Given the description of an element on the screen output the (x, y) to click on. 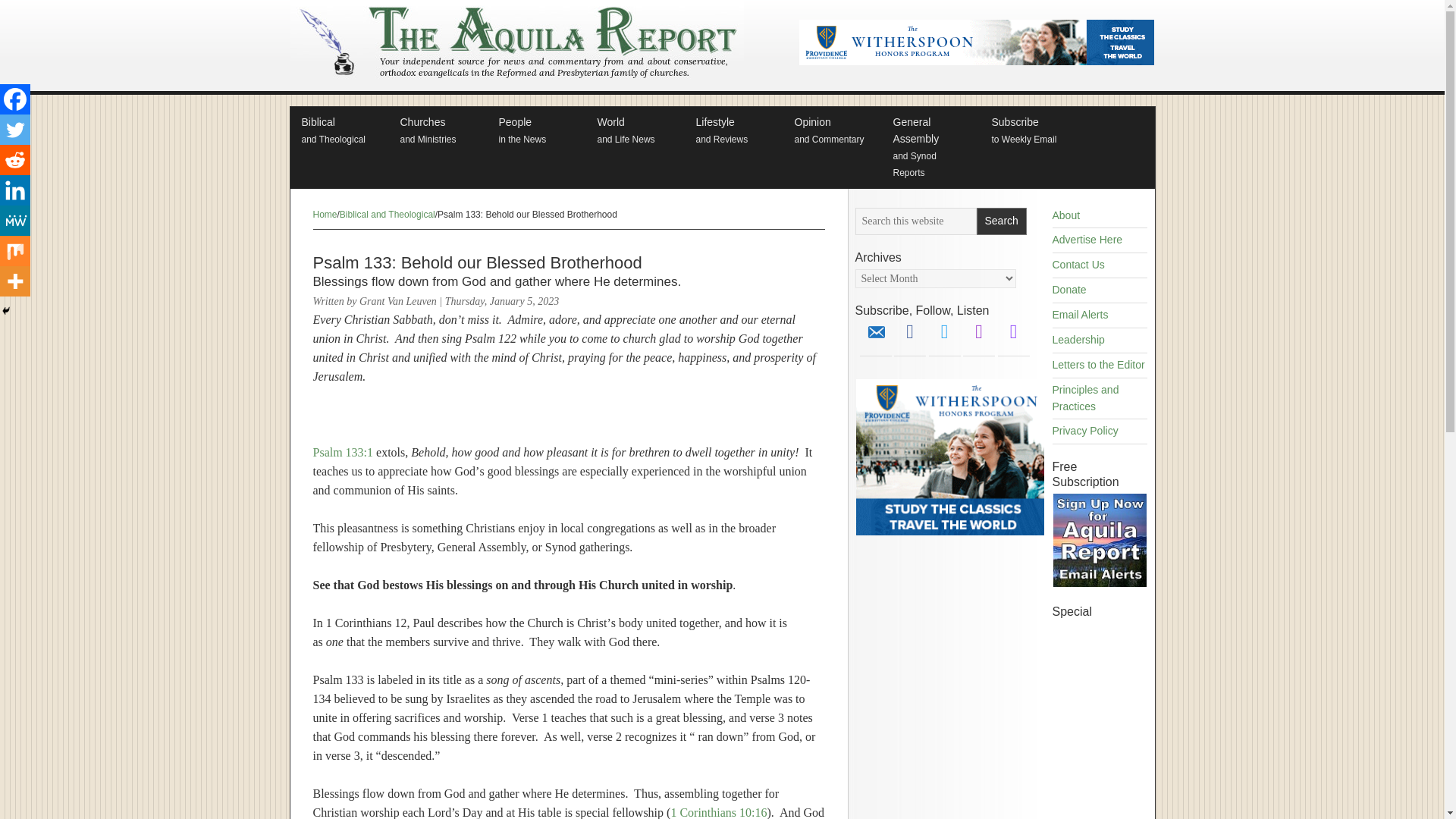
Reddit (15, 159)
Default Label (1013, 330)
More (15, 281)
Click to subscribe to Aquila Report email alerts (535, 131)
Search (1098, 583)
Twitter (1001, 221)
Facebook (831, 131)
Mix (15, 129)
Facebook (909, 330)
Advertise in The Aquila Report (15, 250)
